Given the description of an element on the screen output the (x, y) to click on. 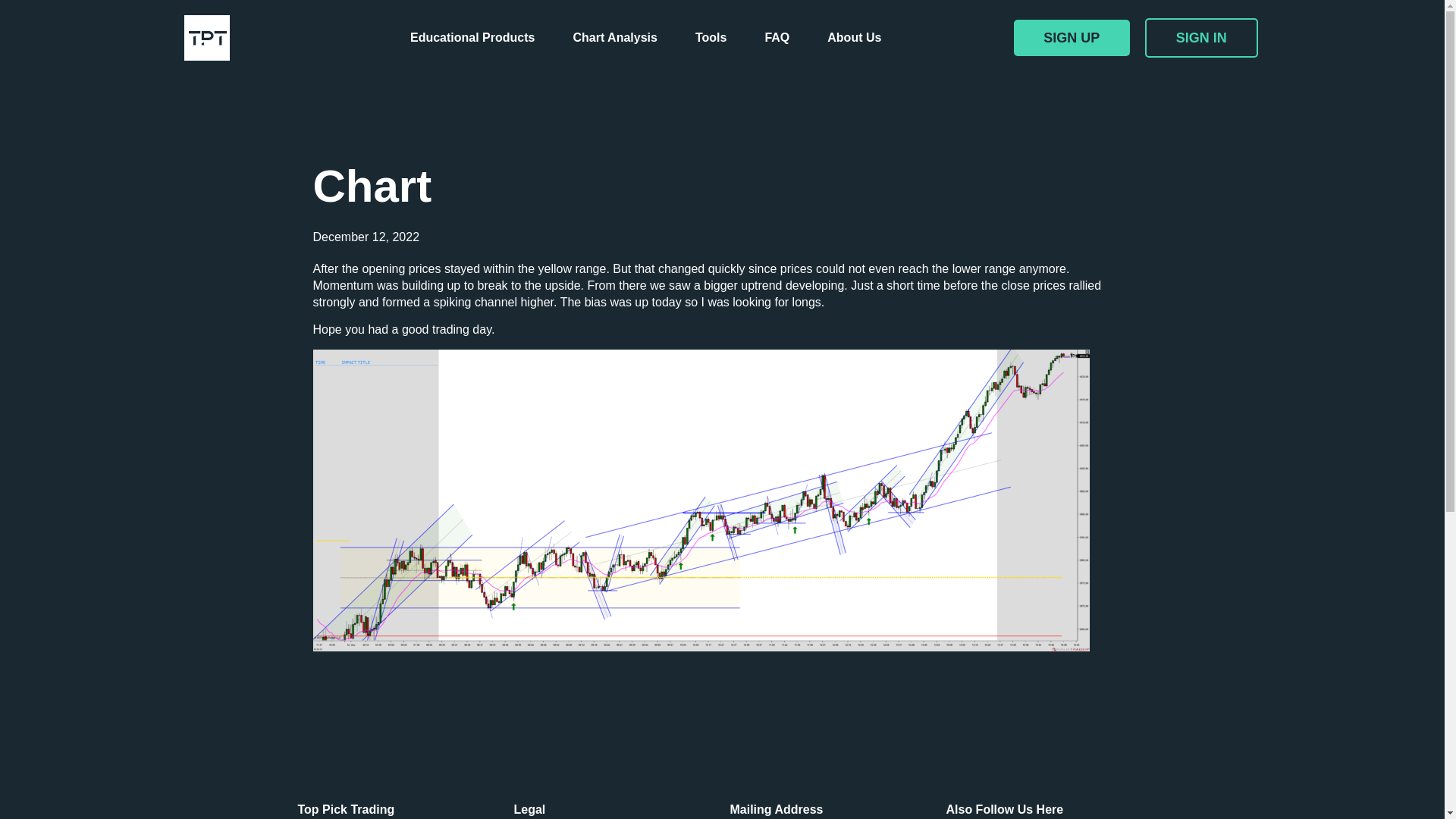
SIGN UP (1071, 37)
FAQ (777, 37)
Educational Products (472, 37)
About Us (854, 37)
Tools (710, 37)
SIGN IN (1200, 37)
Chart Analysis (614, 37)
